Given the description of an element on the screen output the (x, y) to click on. 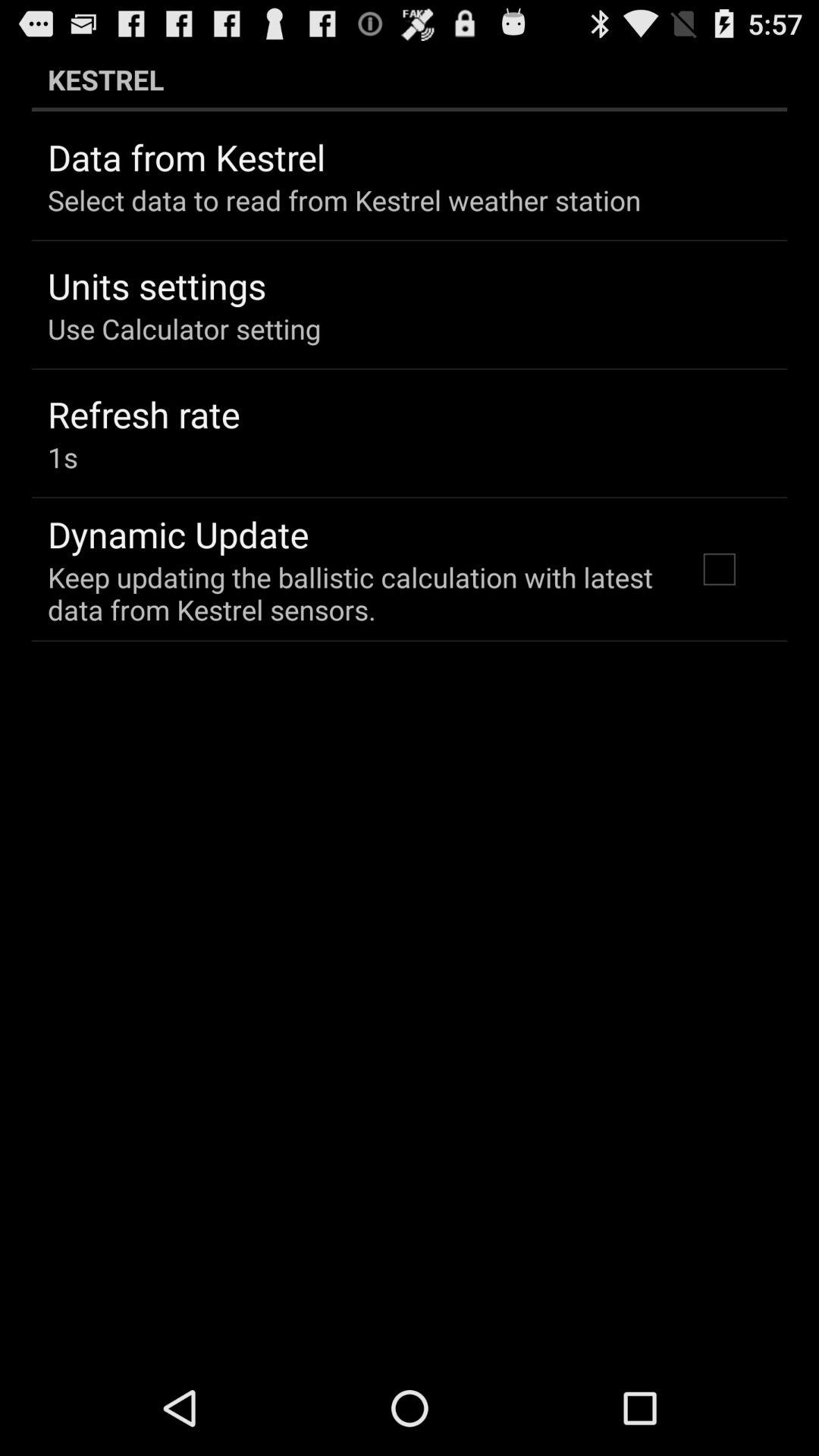
press app to the right of keep updating the (719, 569)
